Given the description of an element on the screen output the (x, y) to click on. 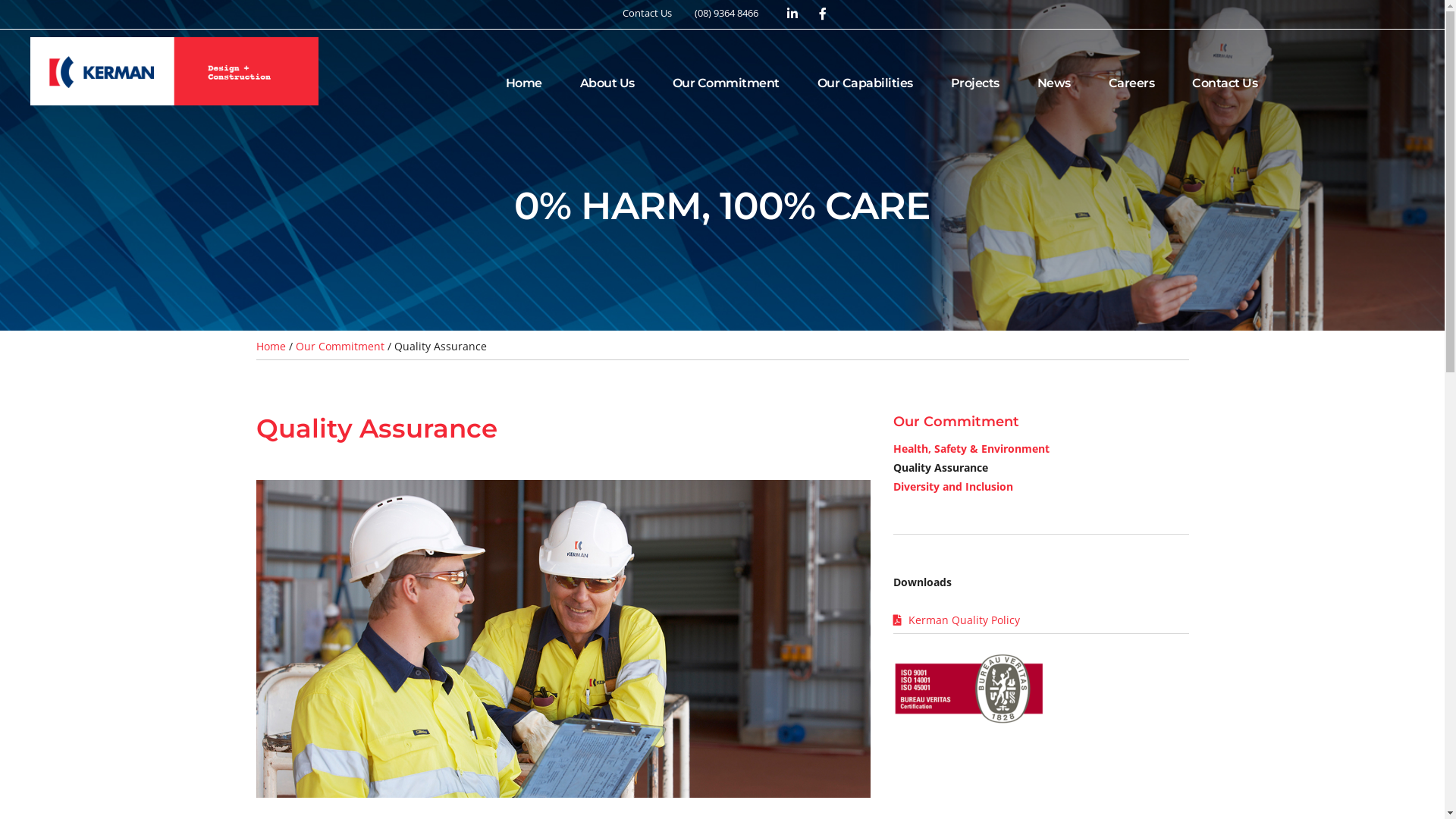
Kerman Quality Policy Element type: text (963, 619)
Home Element type: text (523, 82)
Our Commitment Element type: text (725, 82)
Projects Element type: text (974, 82)
ISO_Triple_Cert_ISO_2022 Element type: hover (968, 687)
Our Capabilities Element type: text (864, 82)
Health, Safety & Environment Element type: text (971, 448)
Our Commitment Element type: text (339, 345)
Contact Us Element type: text (646, 12)
Careers Element type: text (1131, 82)
Home Element type: text (270, 345)
Diversity and Inclusion Element type: text (953, 486)
News Element type: text (1053, 82)
(08) 9364 8466 Element type: text (726, 12)
Contact Us Element type: text (1224, 82)
Kerman-Quality-Assurance-2 Element type: hover (563, 638)
About Us Element type: text (607, 82)
